Given the description of an element on the screen output the (x, y) to click on. 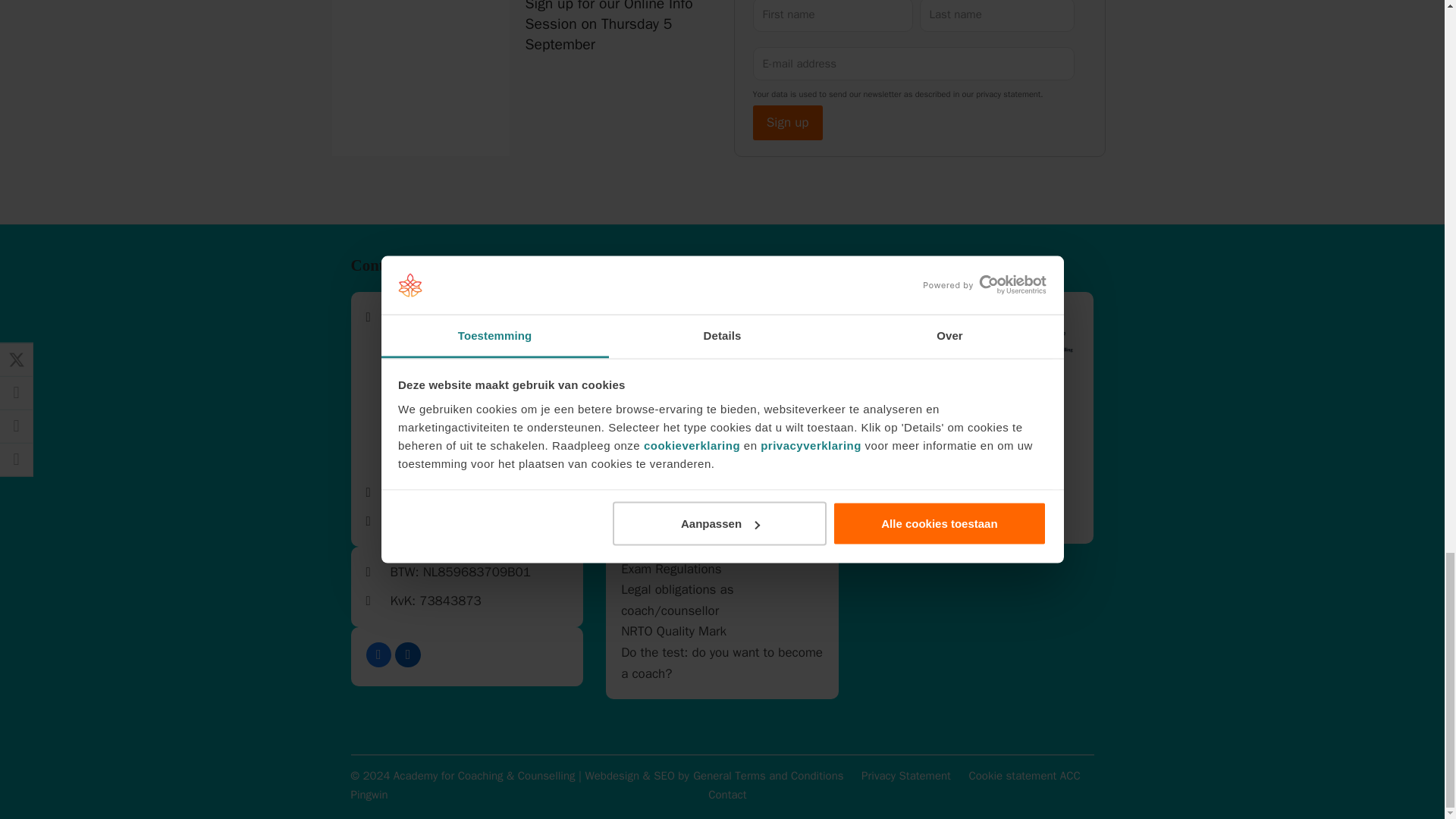
Sign up for our Online Info Session on Thursday 5 September (421, 151)
LinkedIn (407, 655)
Facebook (378, 655)
Sign up (787, 122)
